Given the description of an element on the screen output the (x, y) to click on. 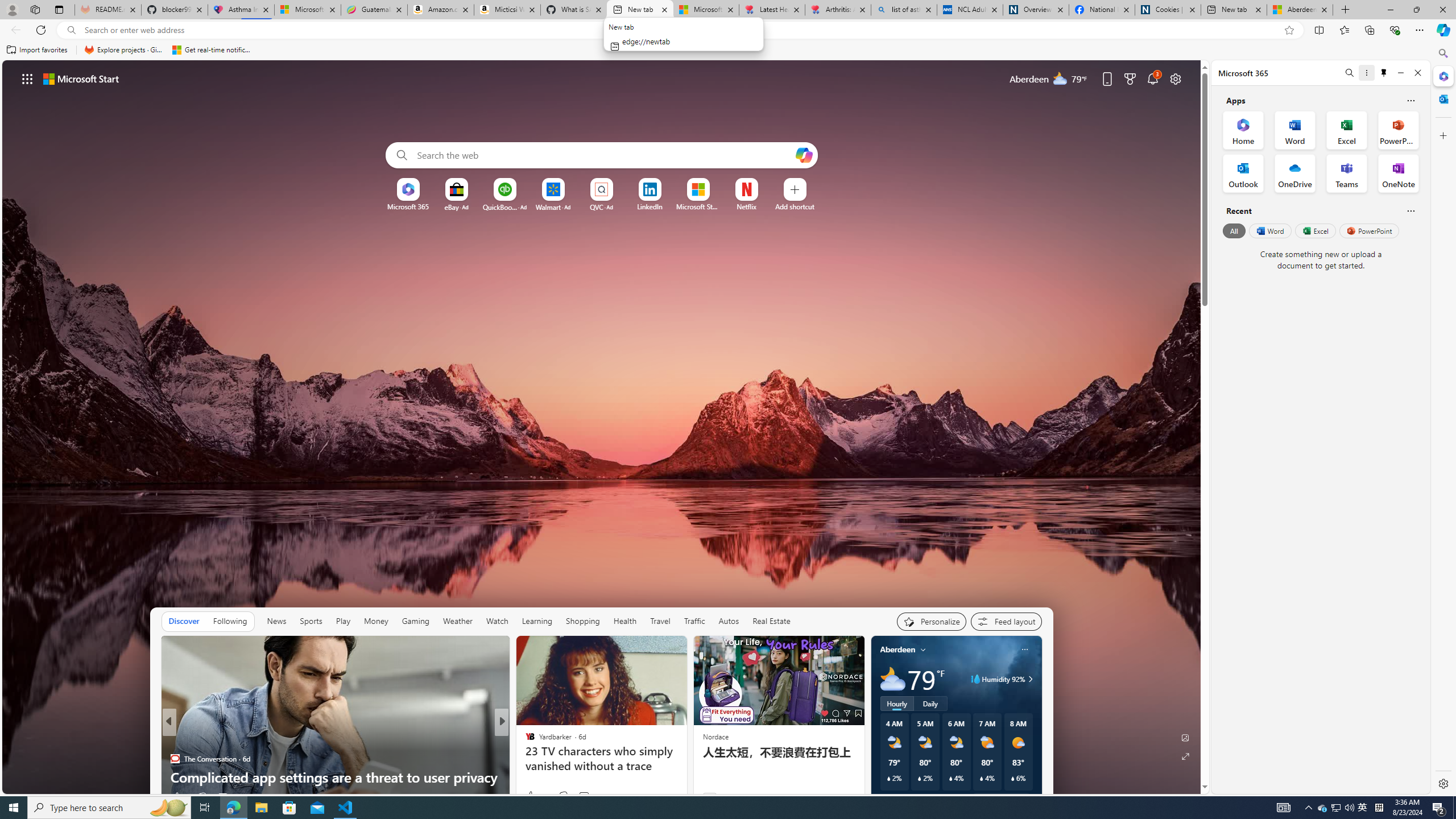
Daily Meal (524, 758)
Dislike (563, 795)
Favorites bar (715, 49)
View comments 25 Comment (576, 797)
Enter your search term (603, 155)
Aberdeen, Hong Kong SAR hourly forecast | Microsoft Weather (1300, 9)
See full forecast (1000, 799)
2k Like (530, 796)
View comments 7 Comment (580, 797)
Traffic (694, 621)
Notifications (1152, 78)
Class: weather-arrow-glyph (1029, 678)
